Given the description of an element on the screen output the (x, y) to click on. 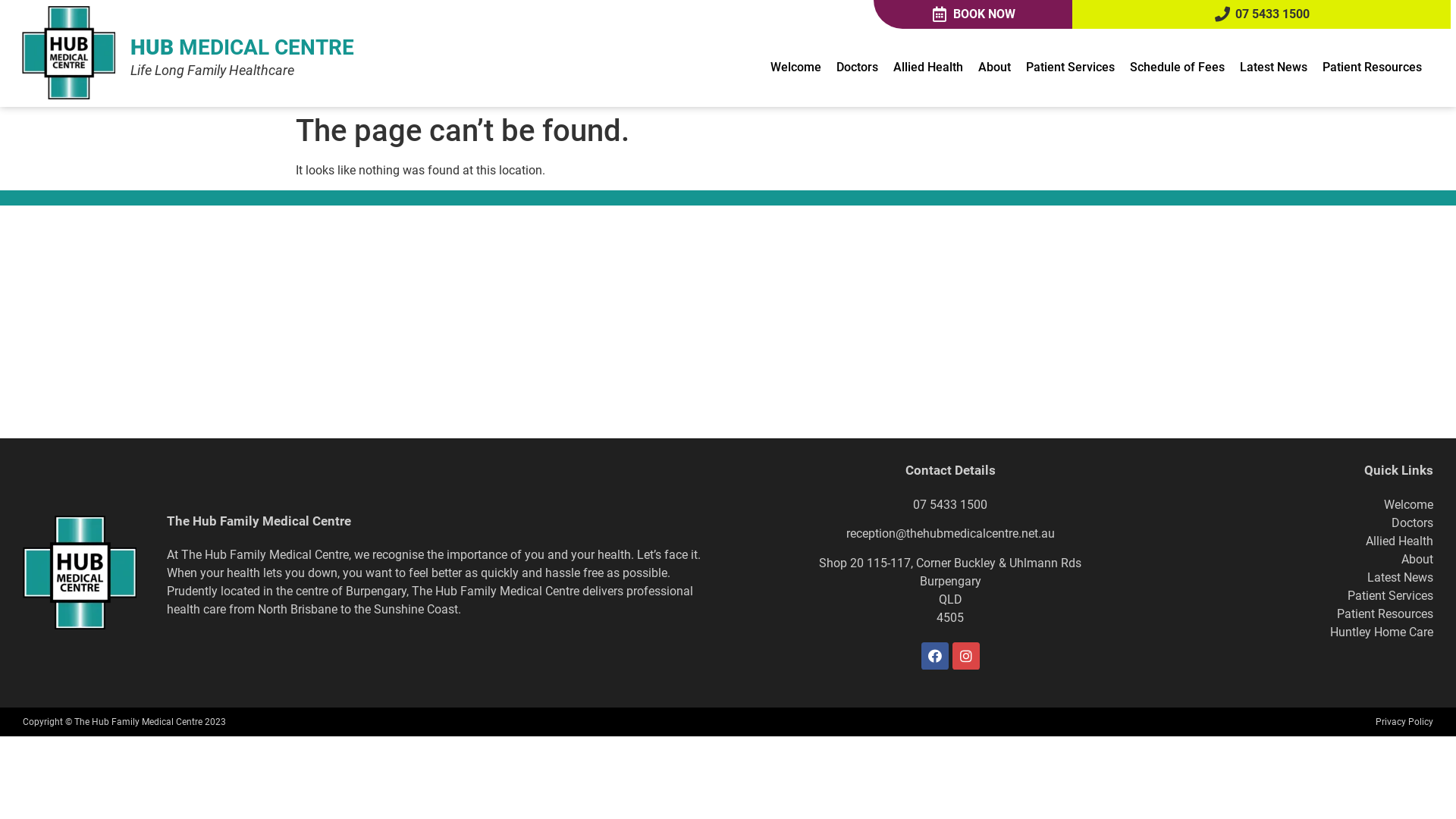
BOOK NOW Element type: text (972, 14)
Patient Resources Element type: text (1371, 67)
Doctors Element type: text (856, 67)
Doctors Element type: text (1412, 522)
Allied Health Element type: text (1399, 540)
reception@thehubmedicalcentre.net.au Element type: text (950, 533)
Patient Resources Element type: text (1384, 613)
Schedule of Fees Element type: text (1177, 67)
Allied Health Element type: text (927, 67)
About Element type: text (1417, 559)
Welcome Element type: text (795, 67)
About Element type: text (994, 67)
Privacy Policy Element type: text (1404, 721)
Patient Services Element type: text (1390, 595)
Patient Services Element type: text (1069, 67)
Latest News Element type: text (1272, 67)
Huntley Home Care Element type: text (1381, 631)
Welcome Element type: text (1408, 504)
Latest News Element type: text (1400, 577)
